Given the description of an element on the screen output the (x, y) to click on. 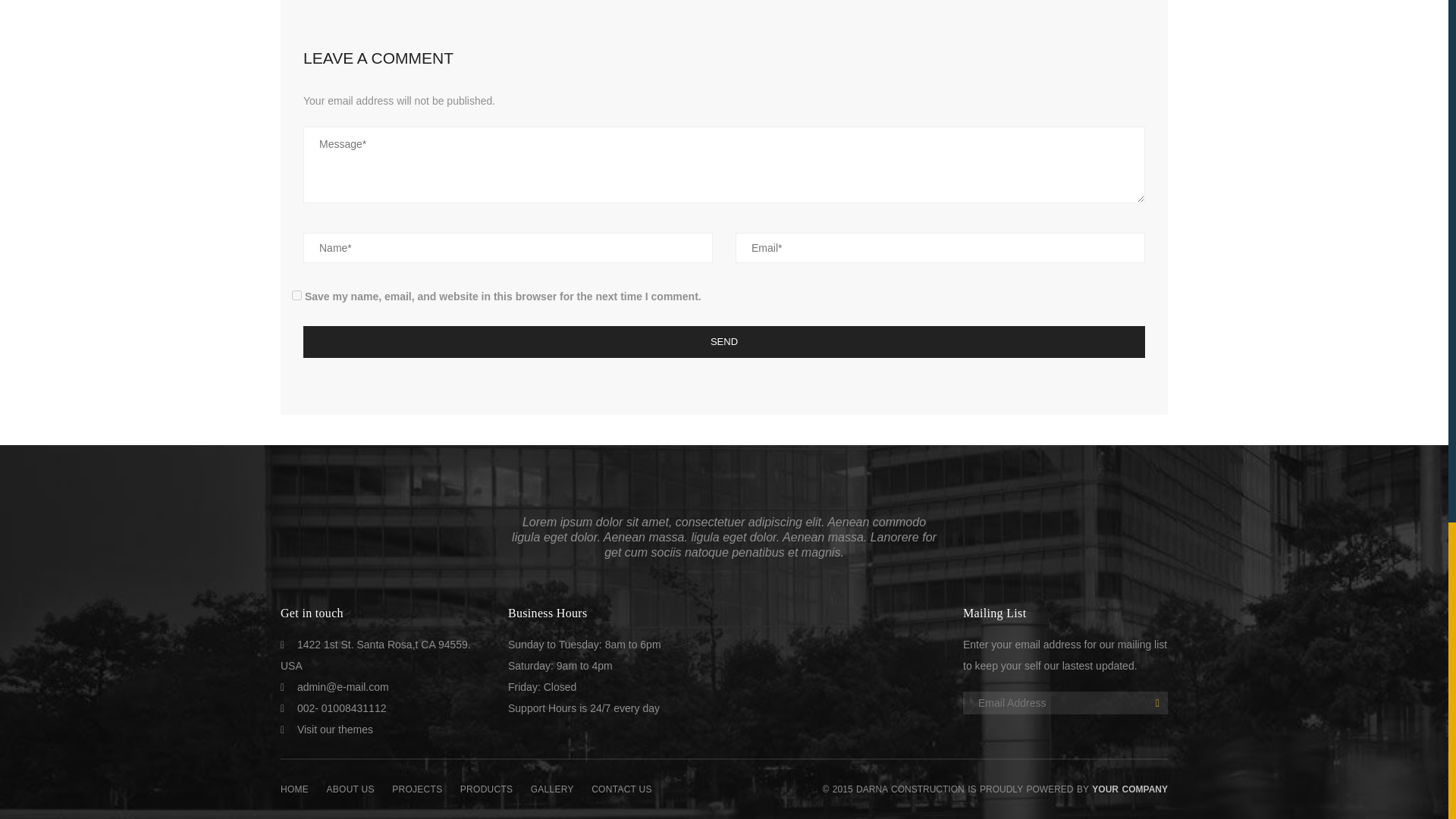
yes (296, 295)
Send (723, 341)
